Given the description of an element on the screen output the (x, y) to click on. 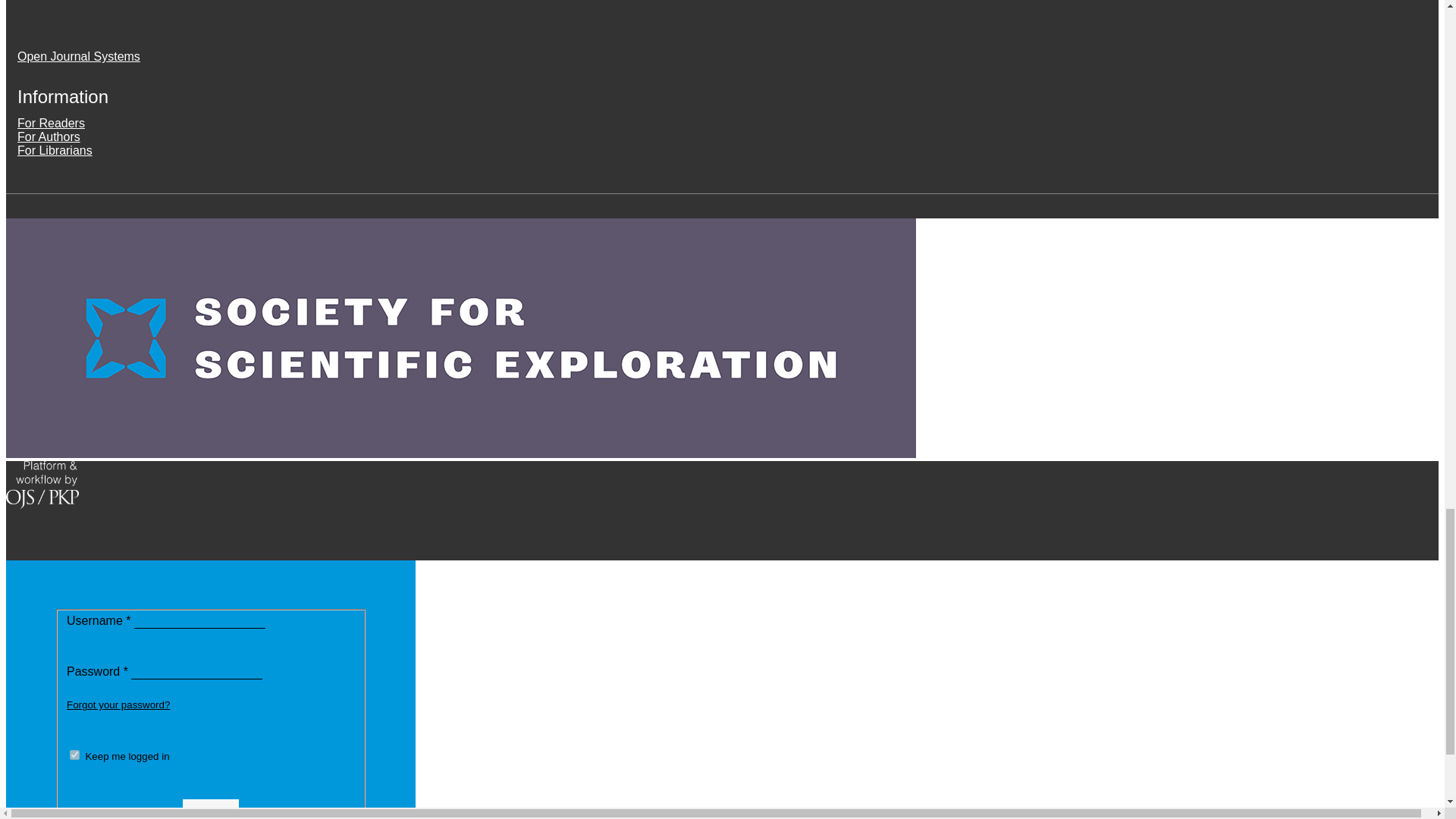
For Readers (50, 123)
For Authors (48, 136)
Open Journal Systems (78, 56)
1 (74, 755)
For Librarians (55, 150)
